Given the description of an element on the screen output the (x, y) to click on. 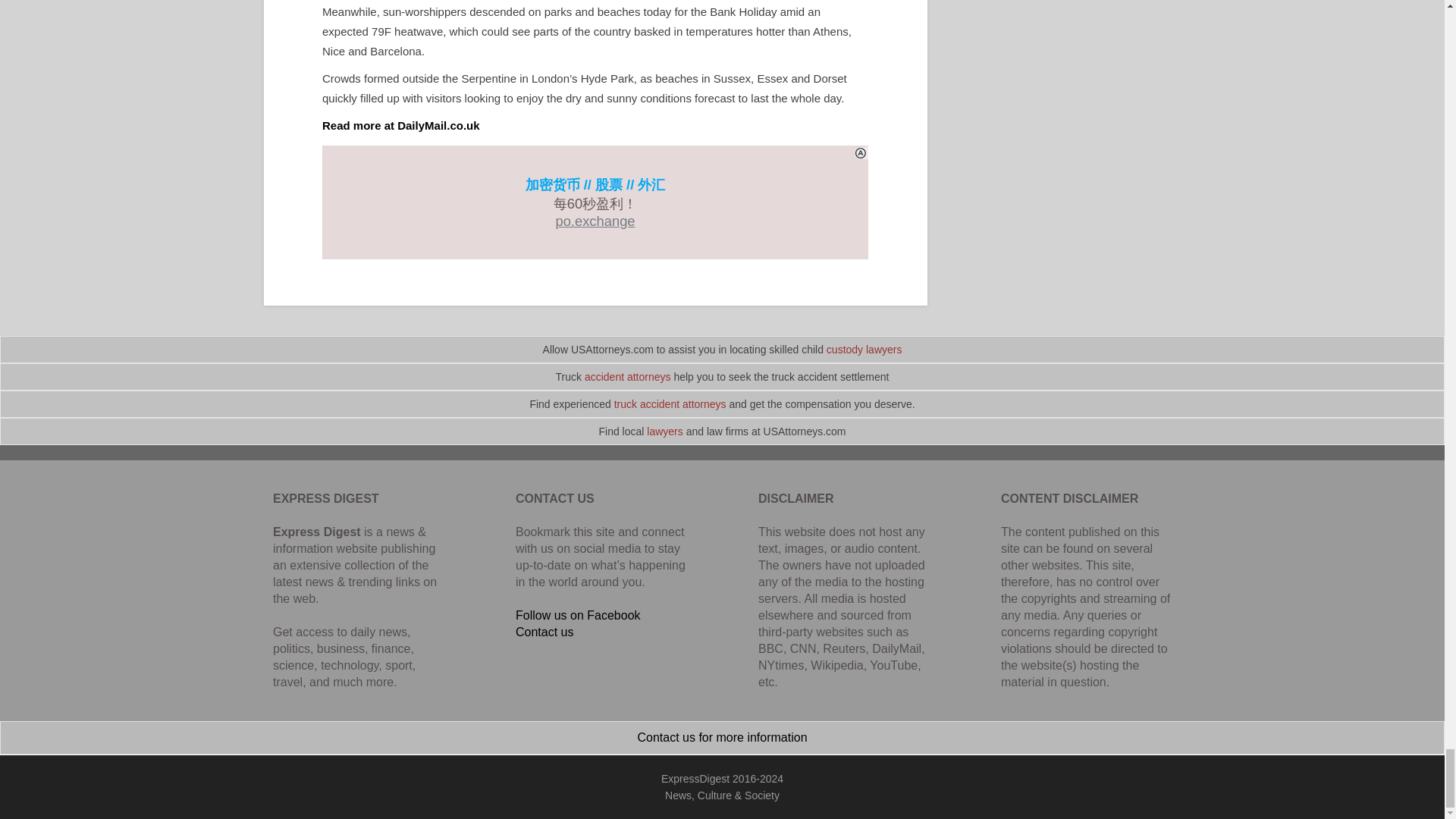
accident attorneys (628, 377)
Read more at DailyMail.co.uk (400, 124)
custody lawyers (864, 349)
truck accident attorneys (670, 404)
lawyers (664, 431)
